Given the description of an element on the screen output the (x, y) to click on. 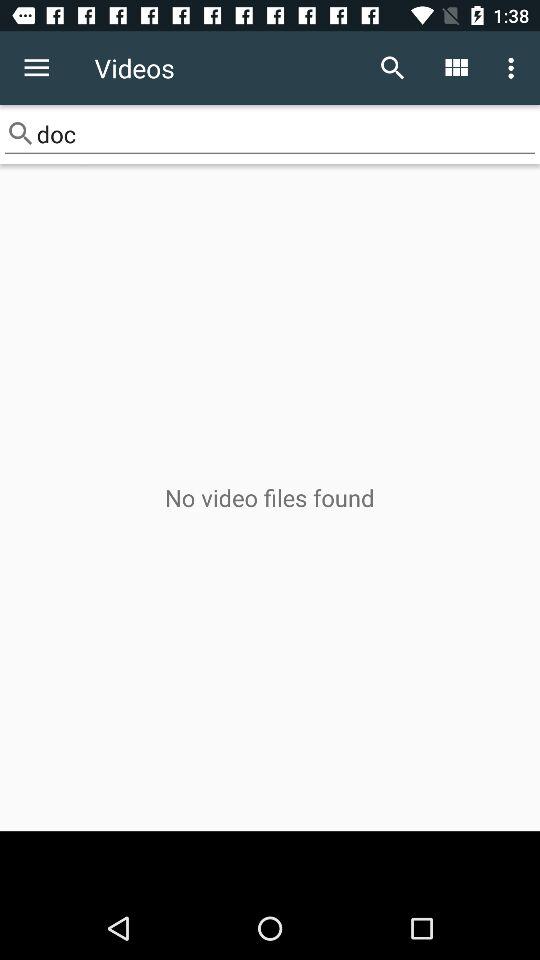
launch the doc icon (270, 134)
